Given the description of an element on the screen output the (x, y) to click on. 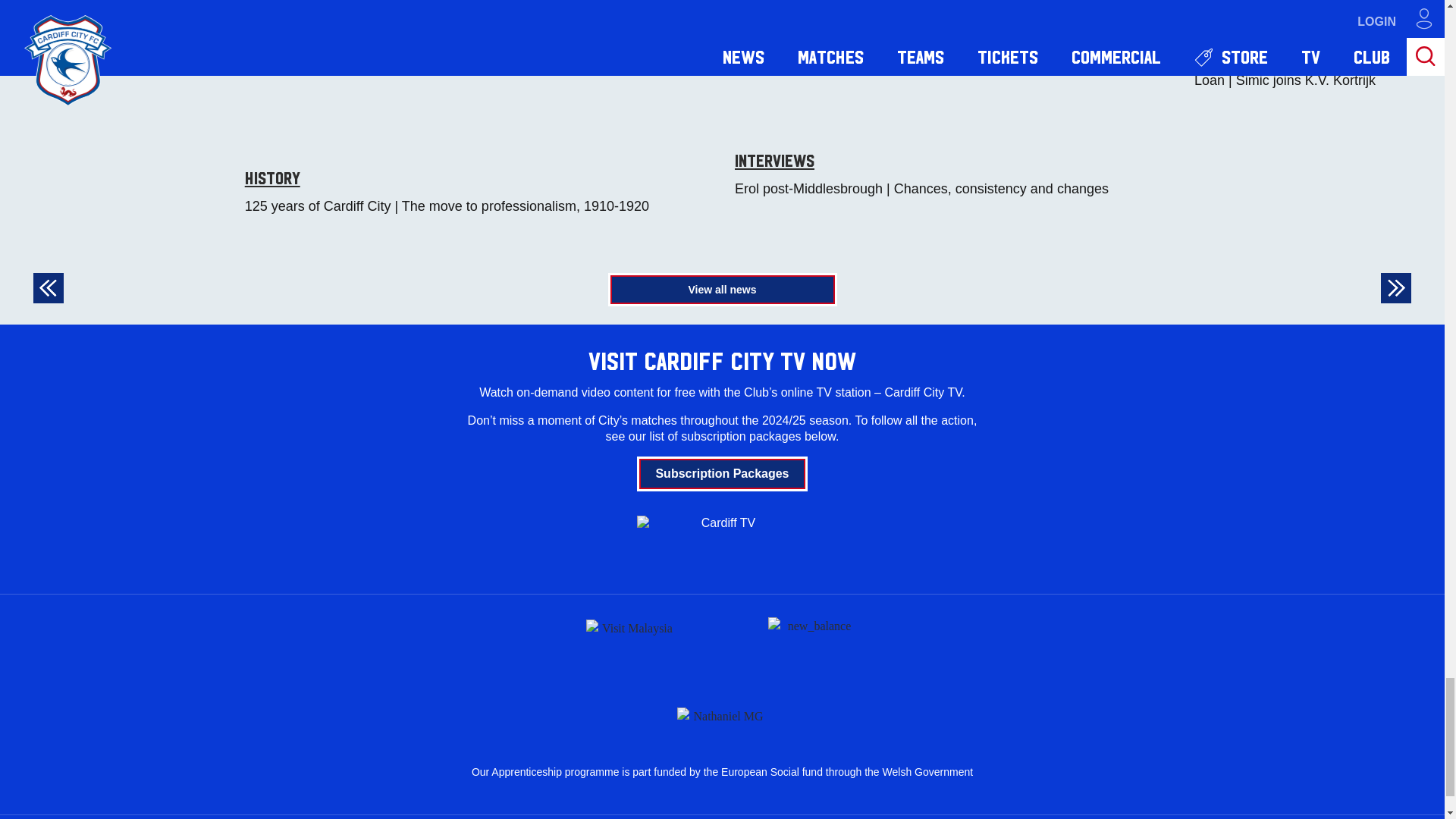
Nathaniel Cars (722, 713)
New Balance (813, 645)
Visit Malaysia (631, 645)
